Given the description of an element on the screen output the (x, y) to click on. 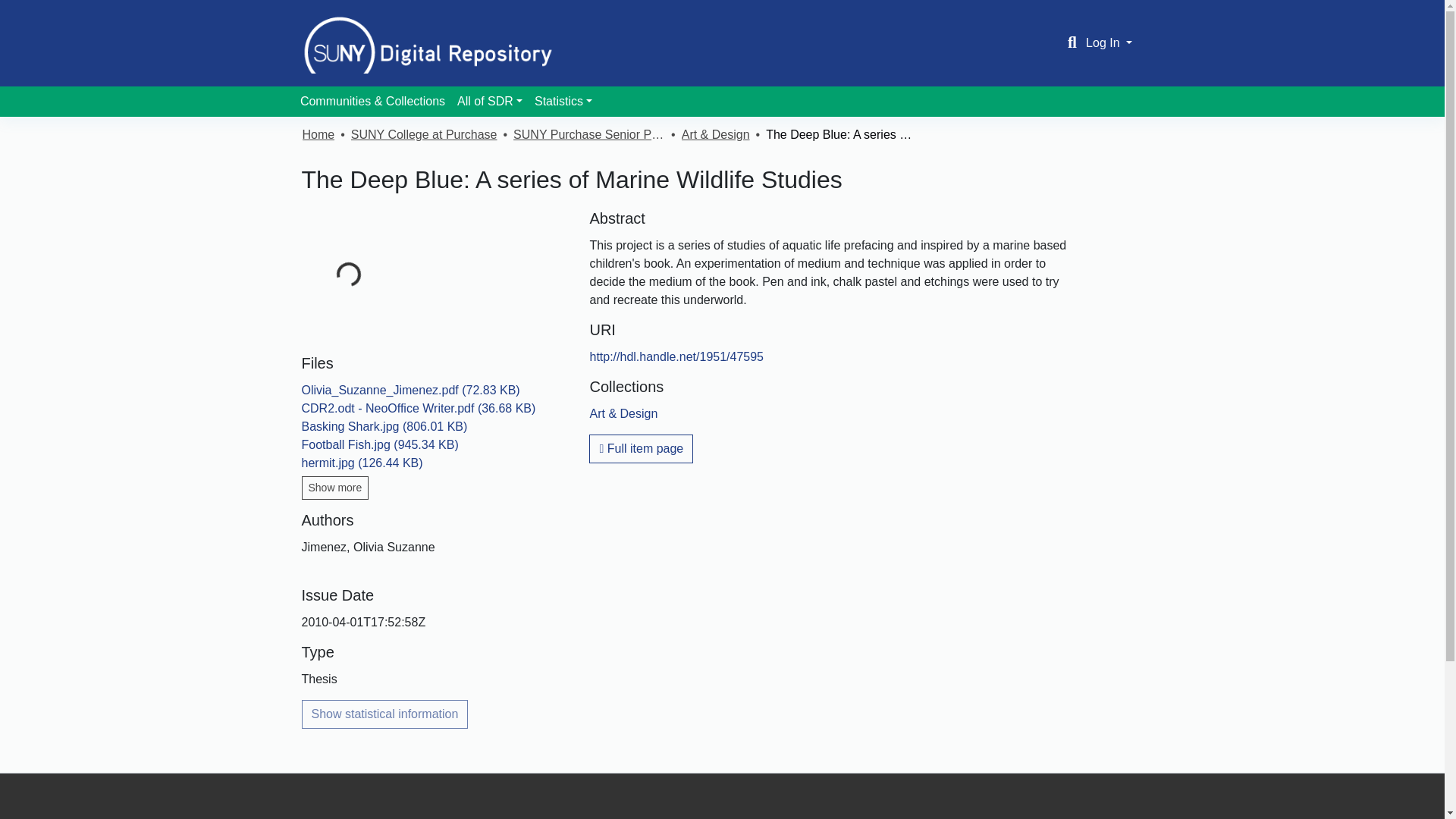
All of SDR (489, 101)
Search (1072, 43)
Log In (1108, 42)
Full item page (641, 448)
SUNY Purchase Senior Projects (589, 135)
Statistics (563, 101)
SUNY College at Purchase (423, 135)
Home (317, 135)
Show statistical information (384, 714)
Show more (335, 487)
